Given the description of an element on the screen output the (x, y) to click on. 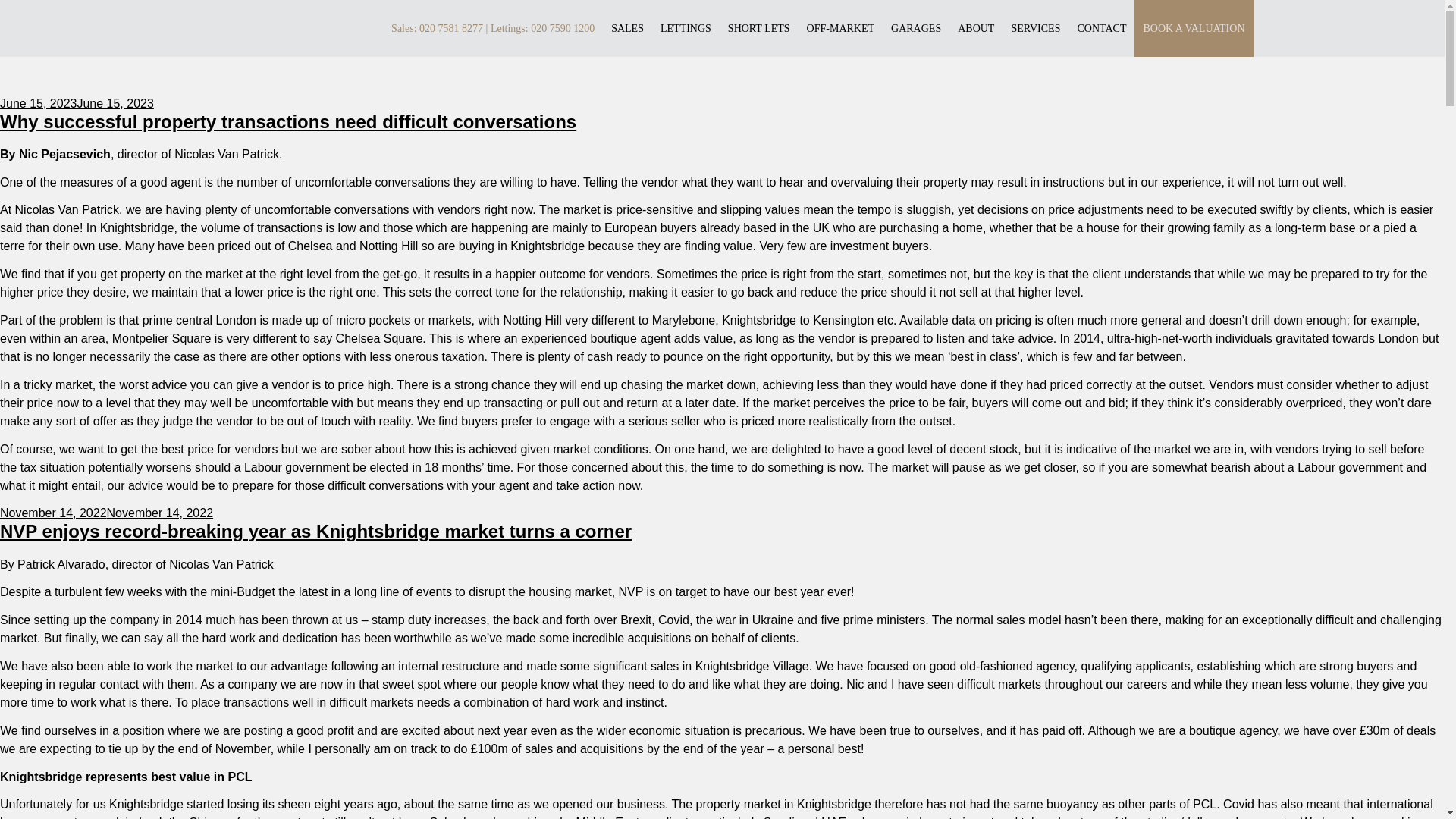
BOOK A VALUATION (1193, 27)
LETTINGS (686, 27)
ABOUT (976, 27)
SALES (627, 27)
OFF-MARKET (840, 27)
GARAGES (915, 27)
SERVICES (1034, 27)
CONTACT (1101, 27)
SHORT LETS (759, 27)
